Given the description of an element on the screen output the (x, y) to click on. 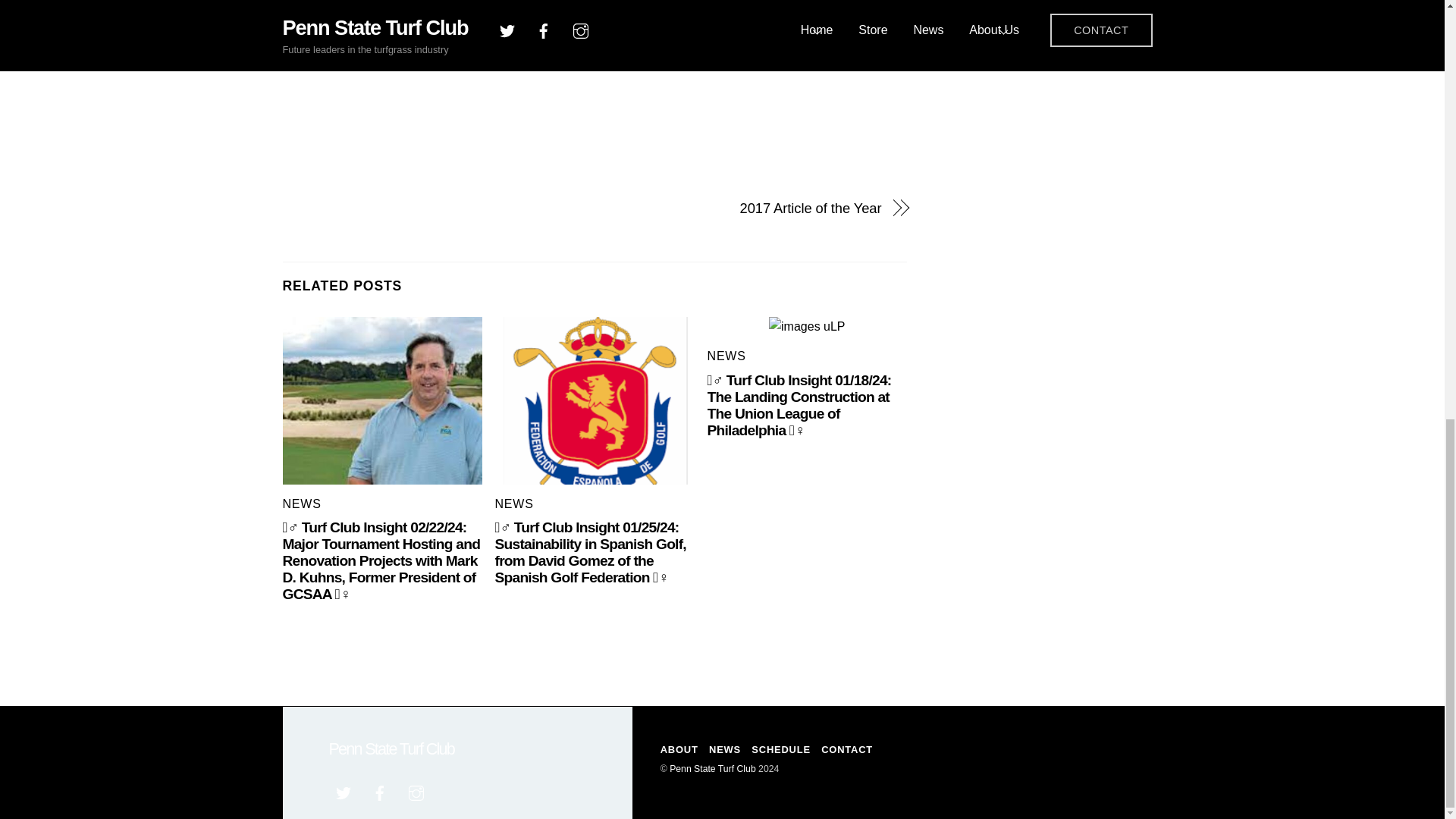
download (595, 400)
NEWS (301, 503)
images uLP (806, 326)
NEWS (514, 503)
2017 Article of the Year (746, 208)
NEWS (726, 355)
Penn State Turf Club (391, 748)
